Given the description of an element on the screen output the (x, y) to click on. 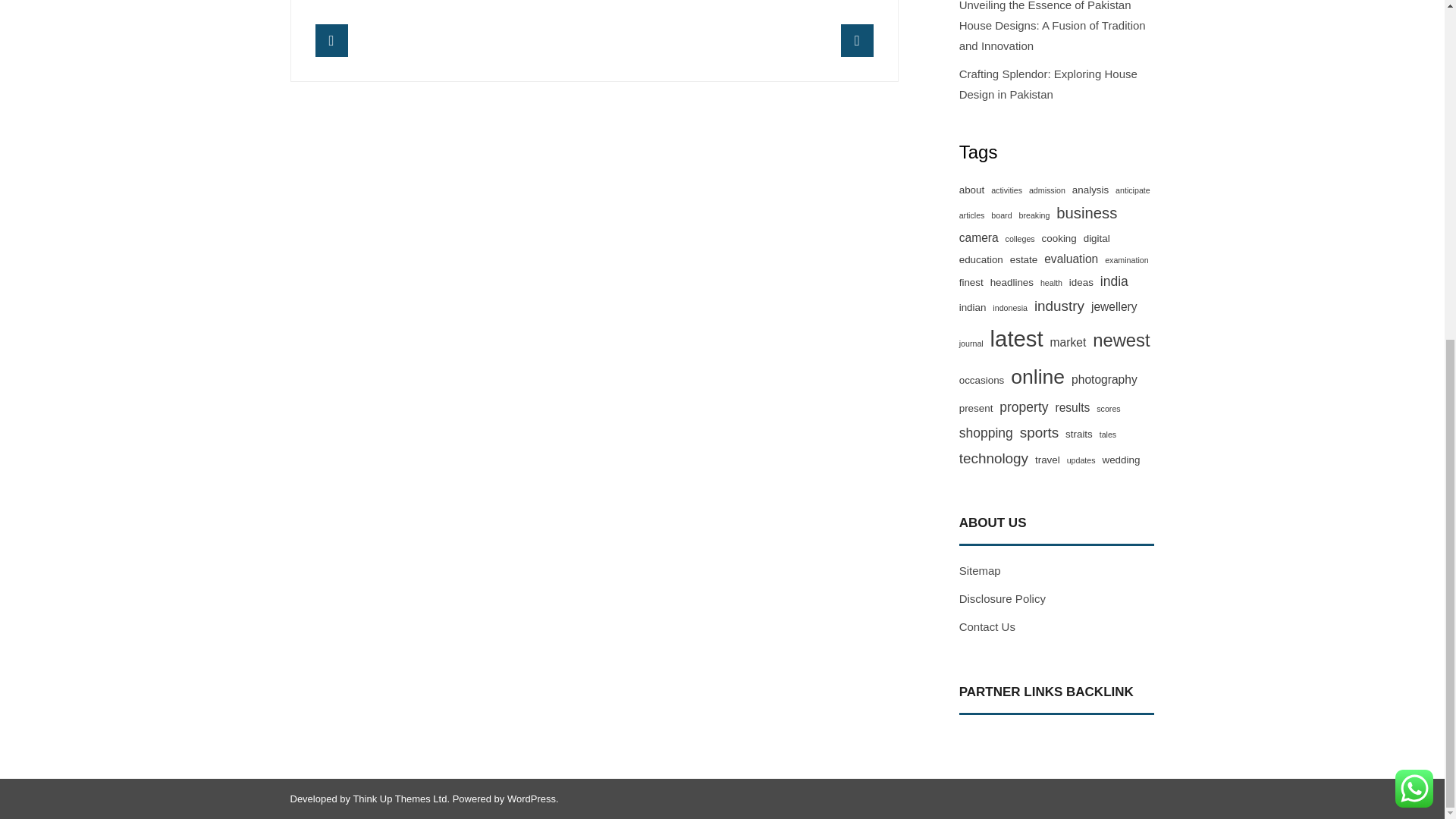
about (972, 189)
admission (1047, 190)
anticipate (1132, 190)
activities (1006, 190)
Crafting Splendor: Exploring House Design in Pakistan (1056, 83)
articles (972, 215)
analysis (1089, 189)
